Given the description of an element on the screen output the (x, y) to click on. 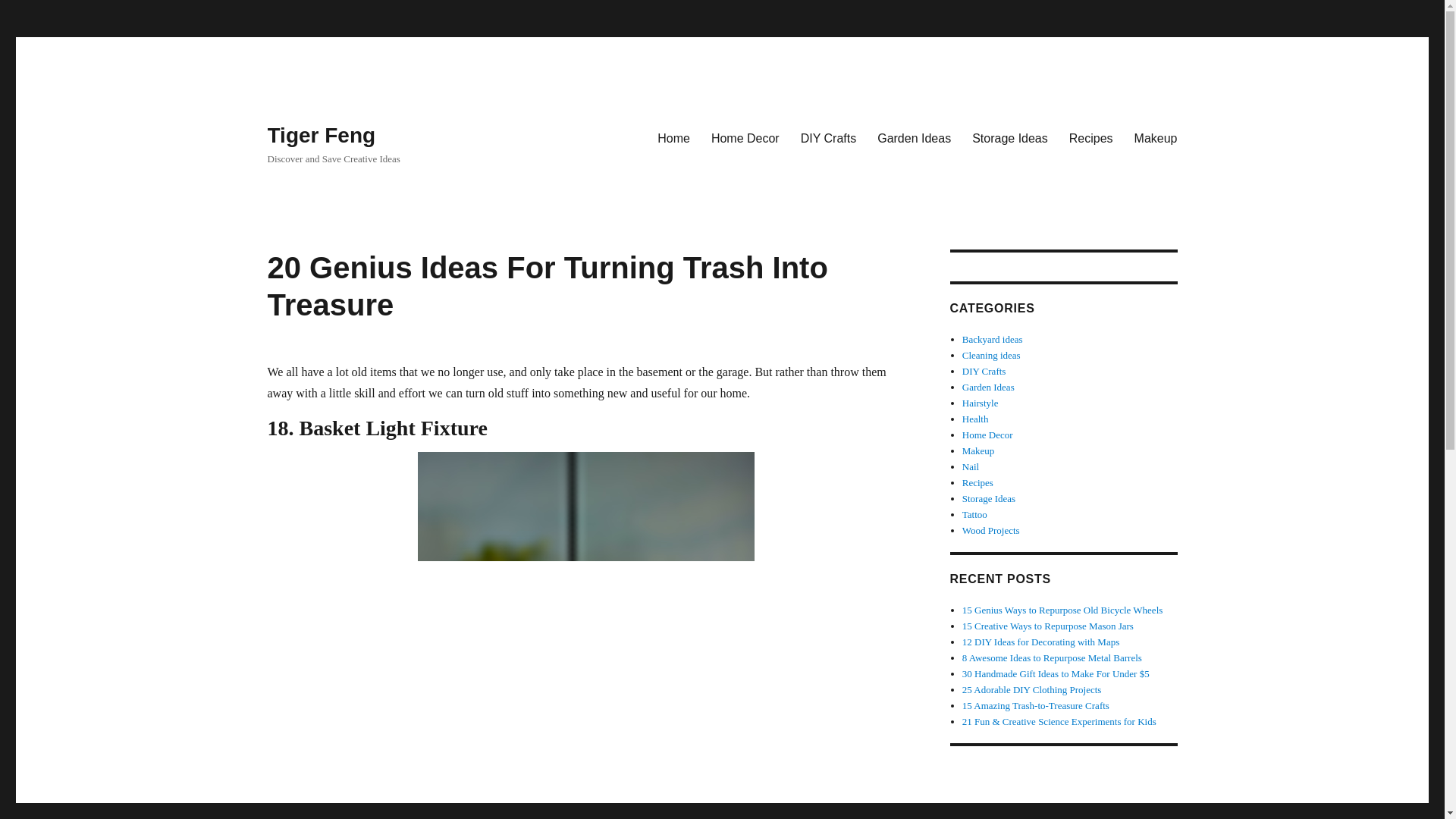
15 Genius Ways to Repurpose Old Bicycle Wheels (1062, 609)
Storage Ideas (1009, 137)
DIY Crafts (984, 370)
Home (673, 137)
Recipes (1091, 137)
Tiger Feng (320, 135)
Makeup (1156, 137)
Garden Ideas (913, 137)
25 Adorable DIY Clothing Projects (1032, 689)
Backyard ideas (992, 338)
